Given the description of an element on the screen output the (x, y) to click on. 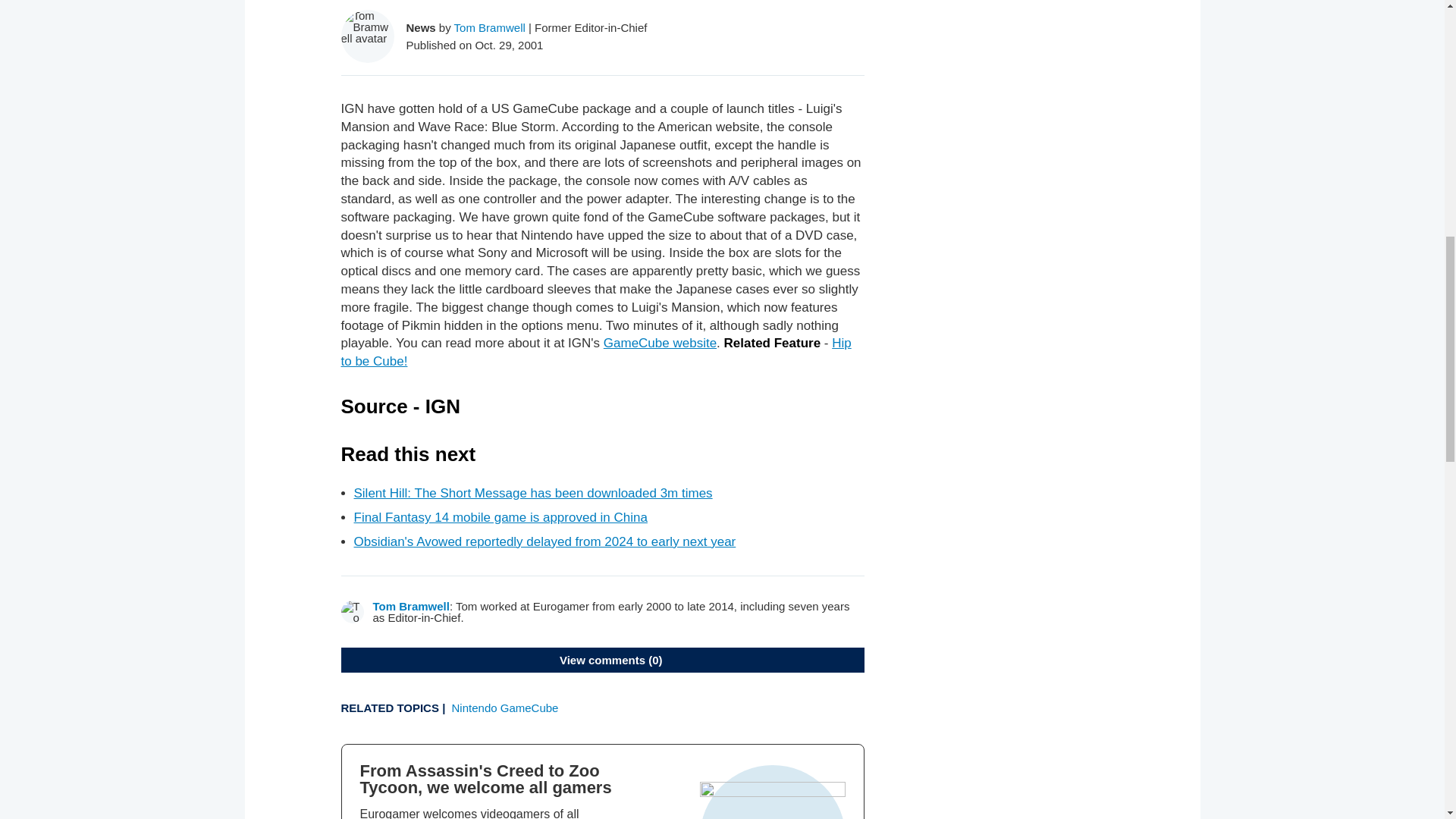
Final Fantasy 14 mobile game is approved in China (499, 517)
Tom Bramwell (410, 605)
Tom Bramwell (489, 27)
Hip to be Cube! (595, 351)
Nintendo GameCube (505, 707)
GameCube website (660, 342)
Silent Hill: The Short Message has been downloaded 3m times (532, 493)
